Given the description of an element on the screen output the (x, y) to click on. 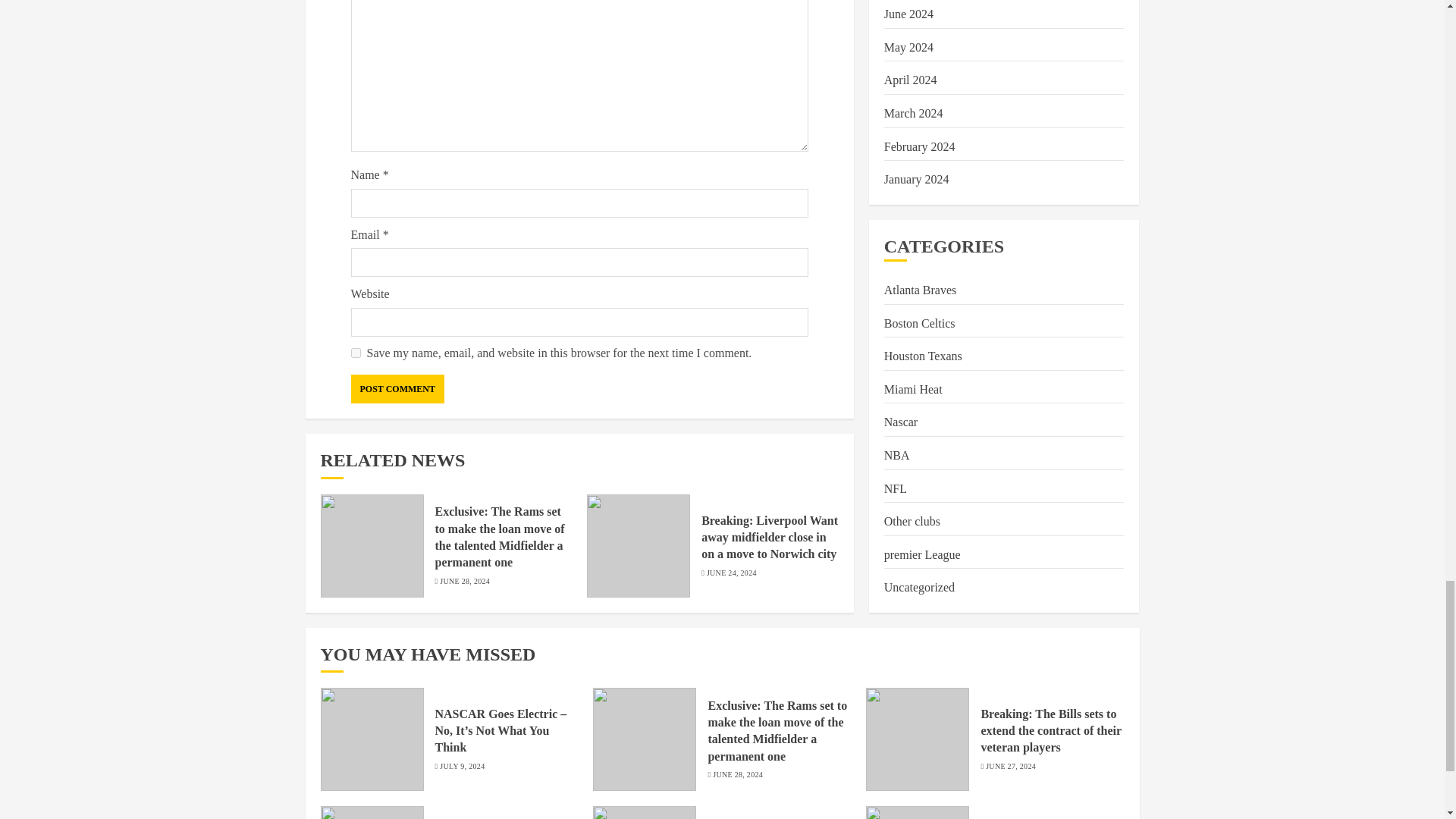
JUNE 28, 2024 (464, 581)
Post Comment (397, 388)
Post Comment (397, 388)
yes (354, 352)
